Given the description of an element on the screen output the (x, y) to click on. 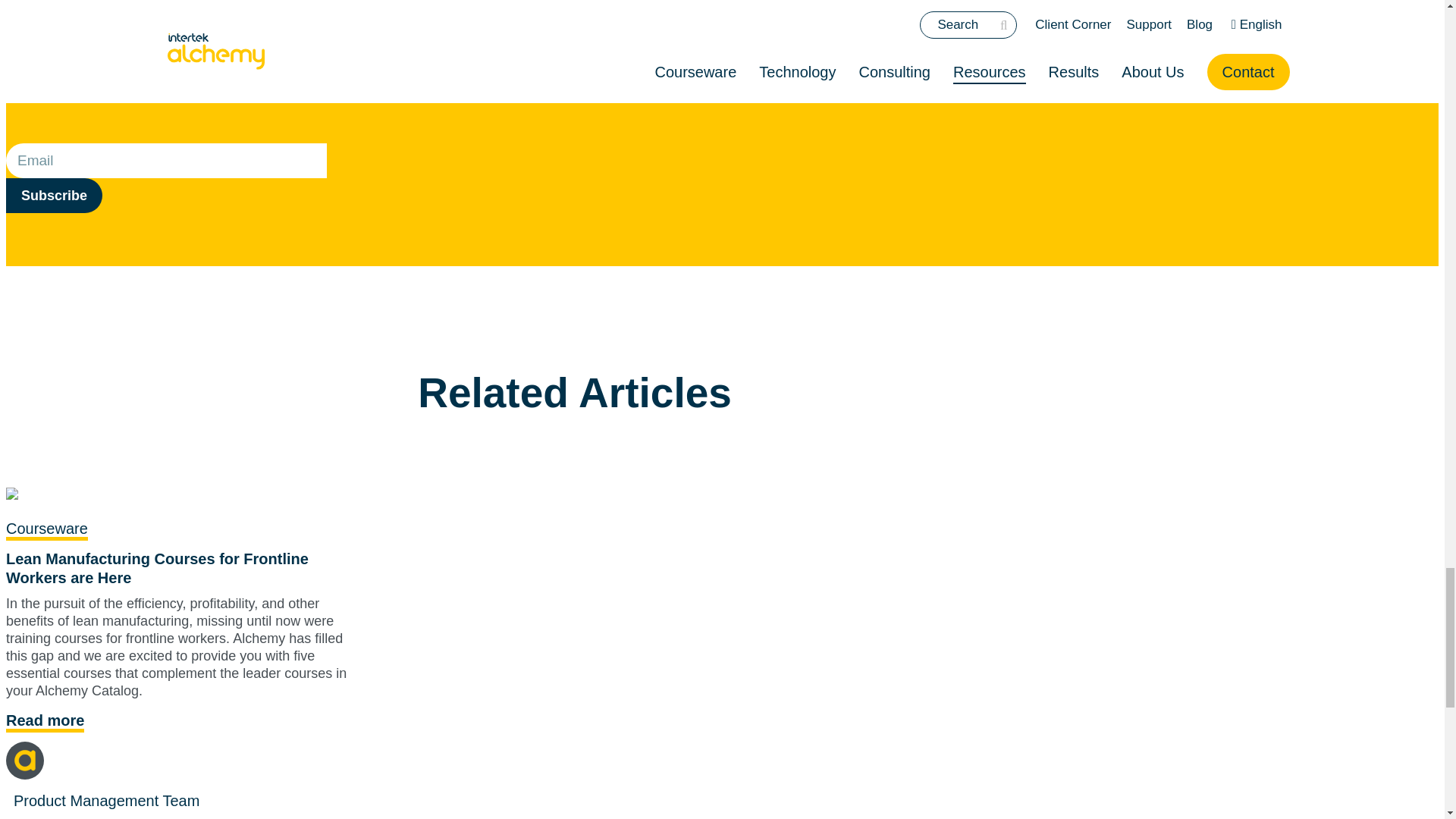
Subscribe (53, 195)
